Given the description of an element on the screen output the (x, y) to click on. 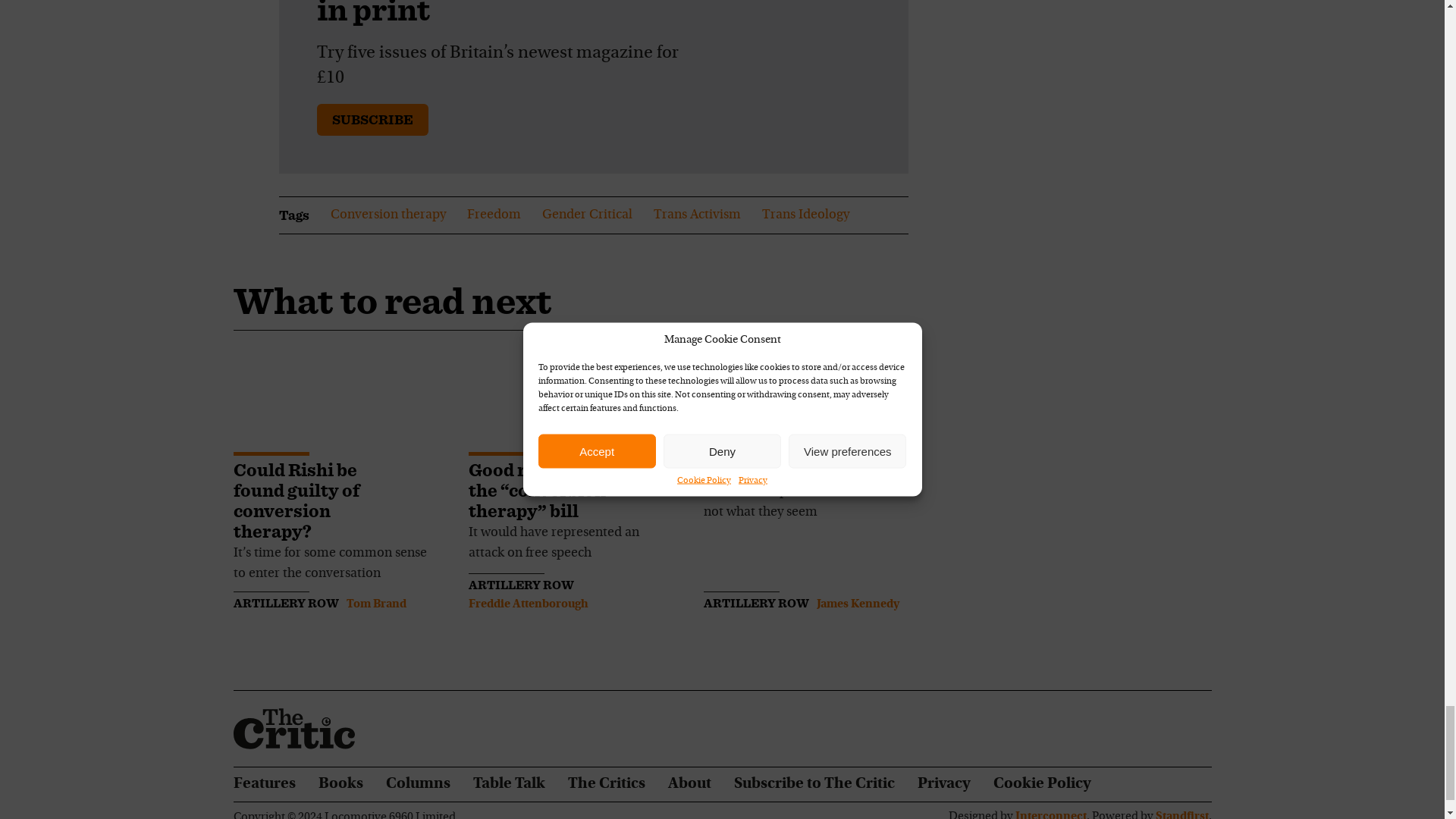
Posts by Freddie Attenborough (528, 604)
Posts by Tom Brand (376, 604)
Posts by James Kennedy (856, 604)
